Given the description of an element on the screen output the (x, y) to click on. 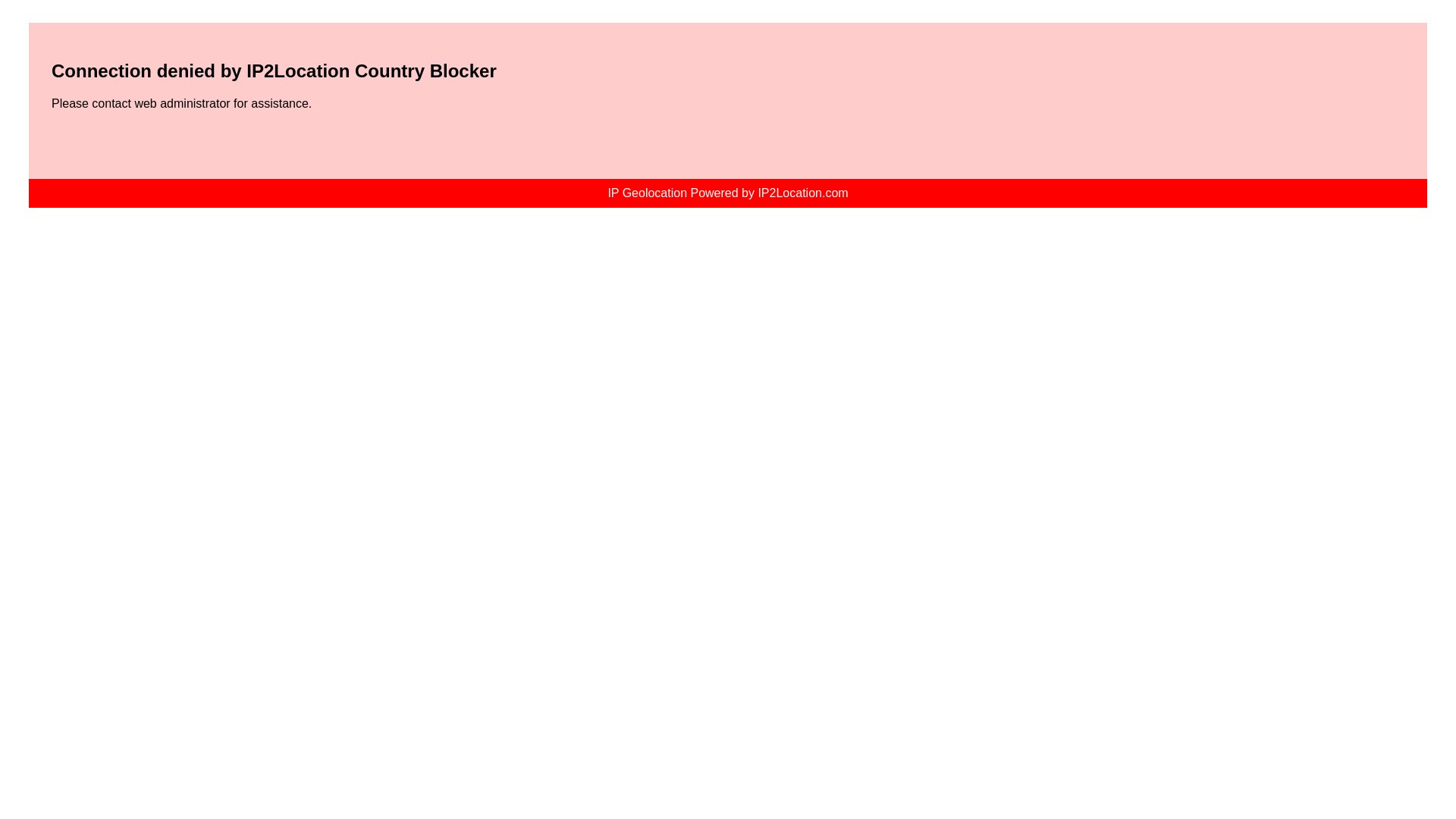
IP Geolocation Powered by IP2Location.com Element type: text (727, 192)
